Given the description of an element on the screen output the (x, y) to click on. 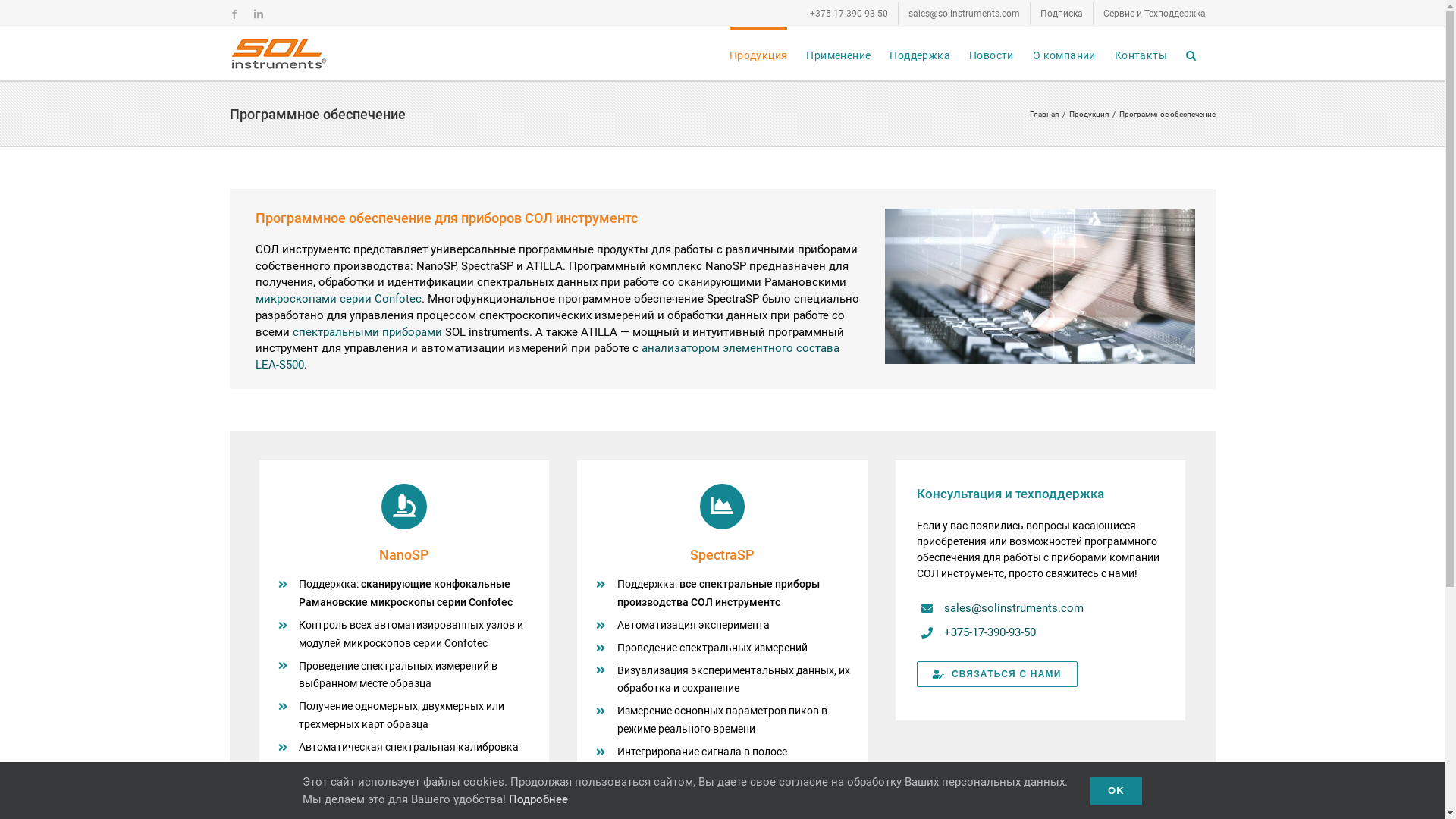
sales@solinstruments.com Element type: text (963, 12)
Facebook Element type: text (233, 13)
+375-17-390-93-50 Element type: text (848, 12)
OK Element type: text (1116, 790)
+375-17-390-93-50 Element type: text (989, 632)
sales@solinstruments.com Element type: text (1013, 608)
LinkedIn Element type: text (257, 13)
